Given the description of an element on the screen output the (x, y) to click on. 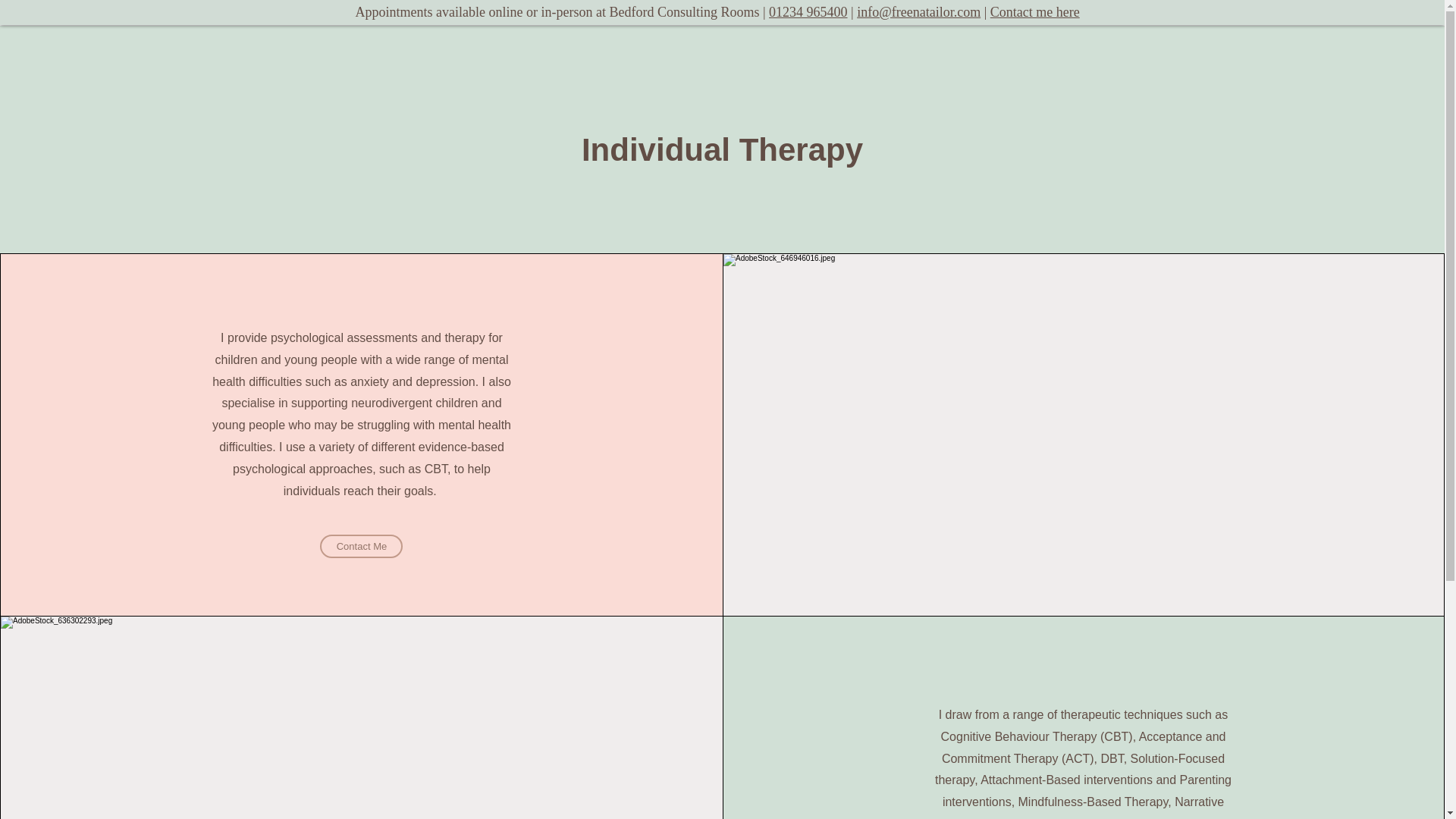
Contact me here (1035, 11)
01234 965400 (807, 11)
Contact Me (361, 545)
